Given the description of an element on the screen output the (x, y) to click on. 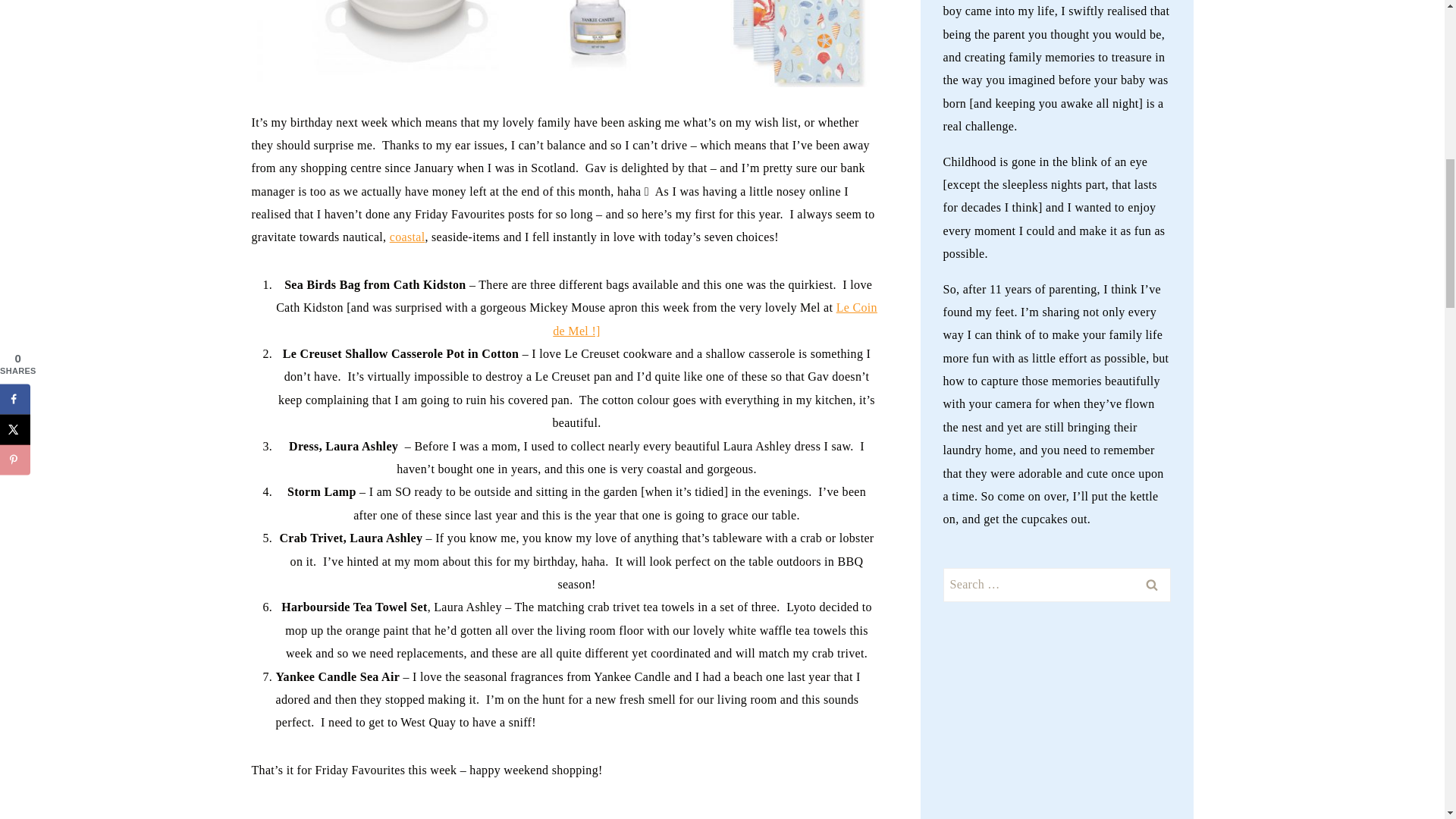
Search (1151, 584)
Search (1151, 584)
coastal (407, 236)
